Given the description of an element on the screen output the (x, y) to click on. 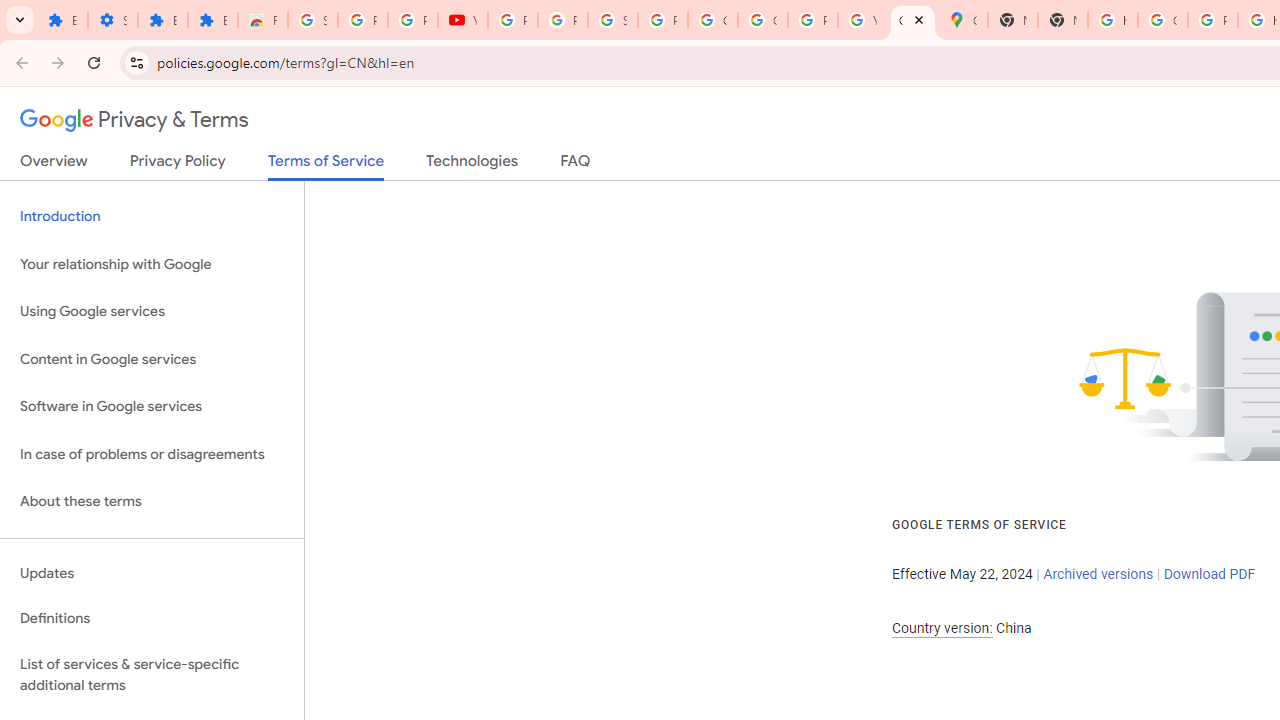
Your relationship with Google (152, 263)
YouTube (462, 20)
New Tab (1062, 20)
Reviews: Helix Fruit Jump Arcade Game (262, 20)
